Given the description of an element on the screen output the (x, y) to click on. 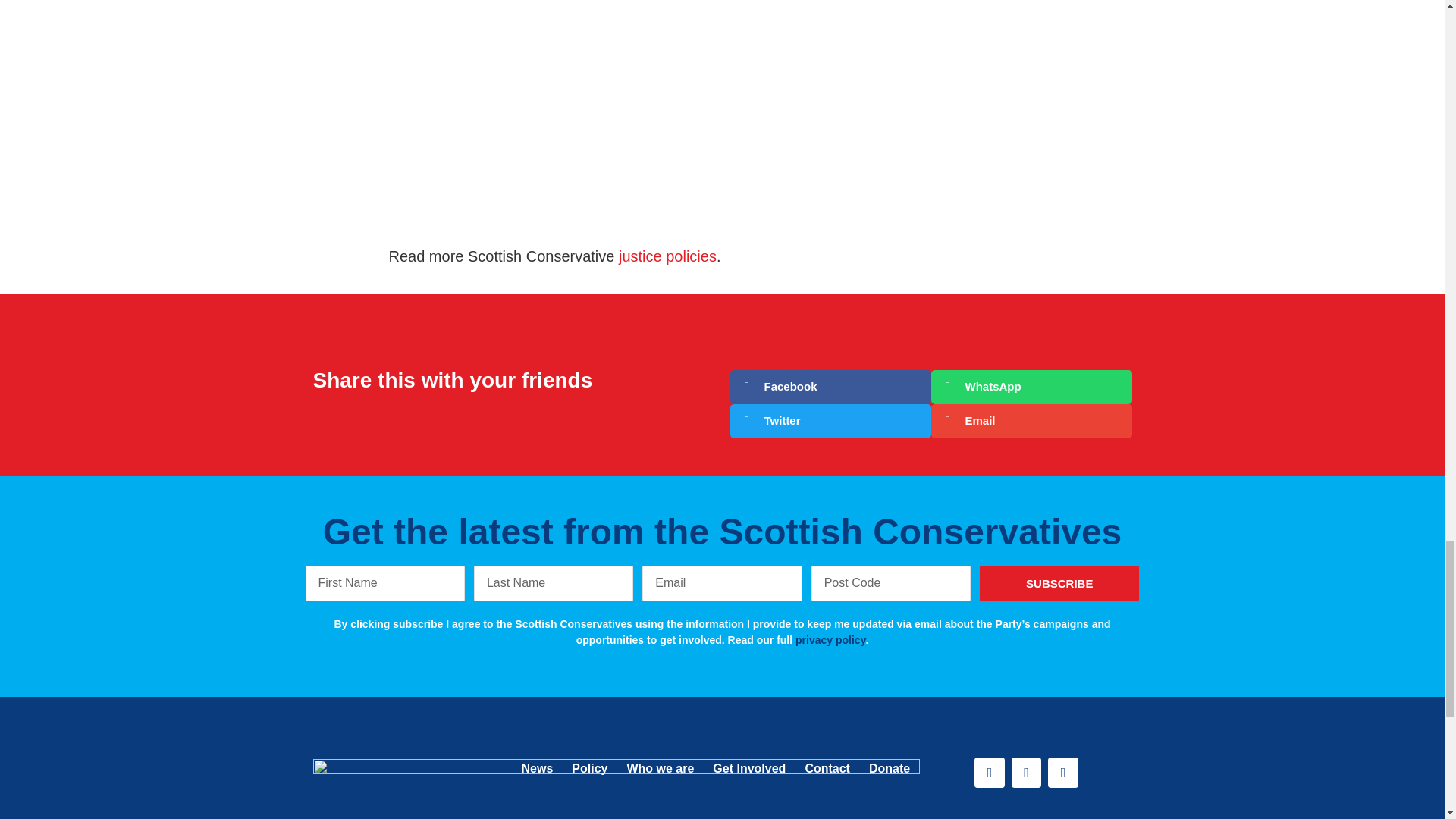
News (537, 768)
Who we are (660, 768)
SUBSCRIBE (1058, 583)
Contact (827, 768)
Donate (889, 768)
Get Involved (749, 768)
privacy policy (829, 639)
Policy (589, 768)
justice policies (667, 256)
